Given the description of an element on the screen output the (x, y) to click on. 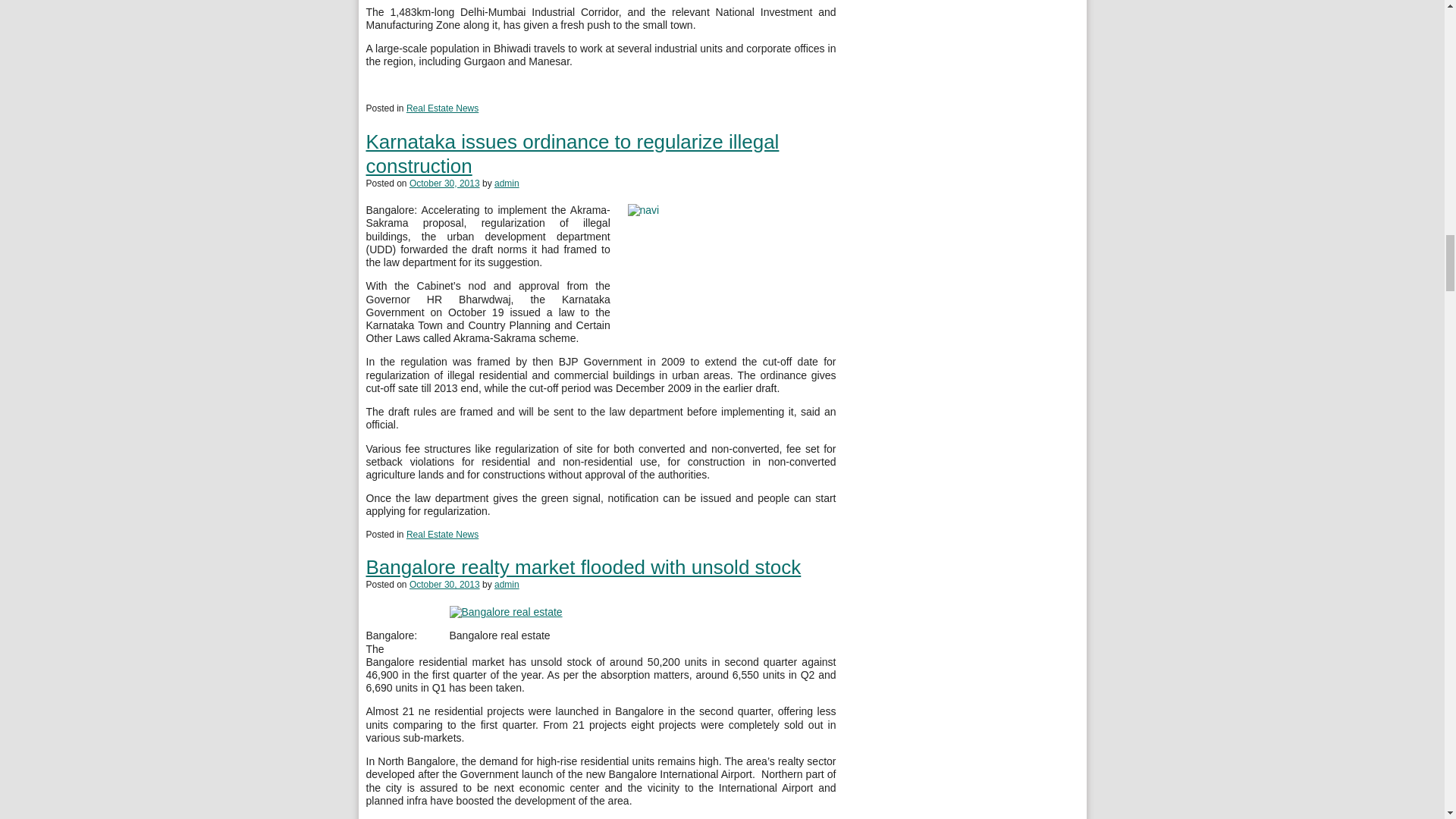
5:25 pm (444, 182)
View all posts by admin (507, 182)
